Given the description of an element on the screen output the (x, y) to click on. 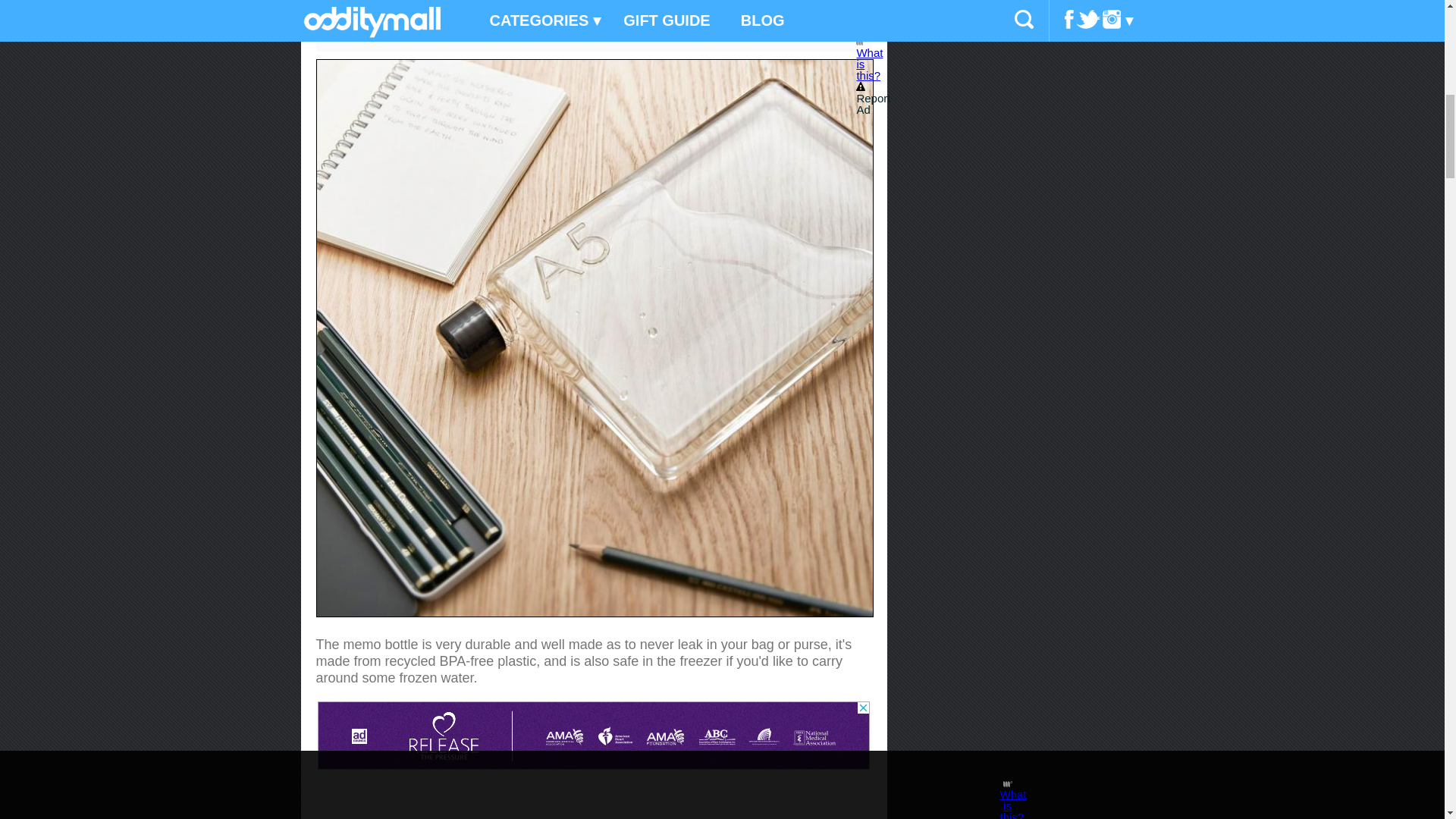
3rd party ad content (593, 735)
